Given the description of an element on the screen output the (x, y) to click on. 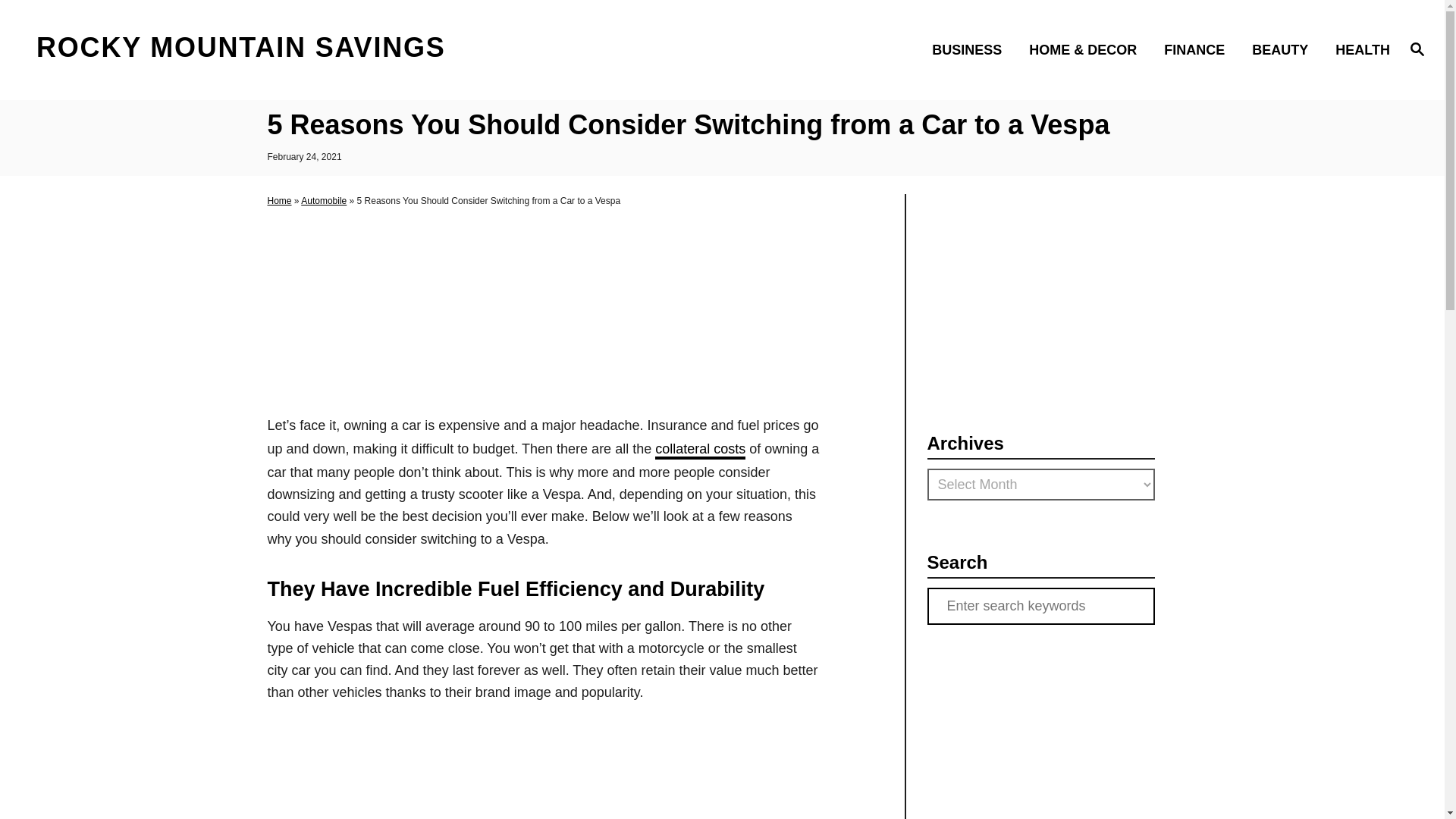
Rocky Mountain Savings (240, 49)
Automobile (323, 200)
HEALTH (1358, 49)
ROCKY MOUNTAIN SAVINGS (240, 49)
BUSINESS (971, 49)
Search (62, 22)
FINANCE (1198, 49)
Magnifying Glass (1416, 48)
Search for: (1040, 606)
BEAUTY (1284, 49)
collateral costs (700, 450)
Home (278, 200)
